Given the description of an element on the screen output the (x, y) to click on. 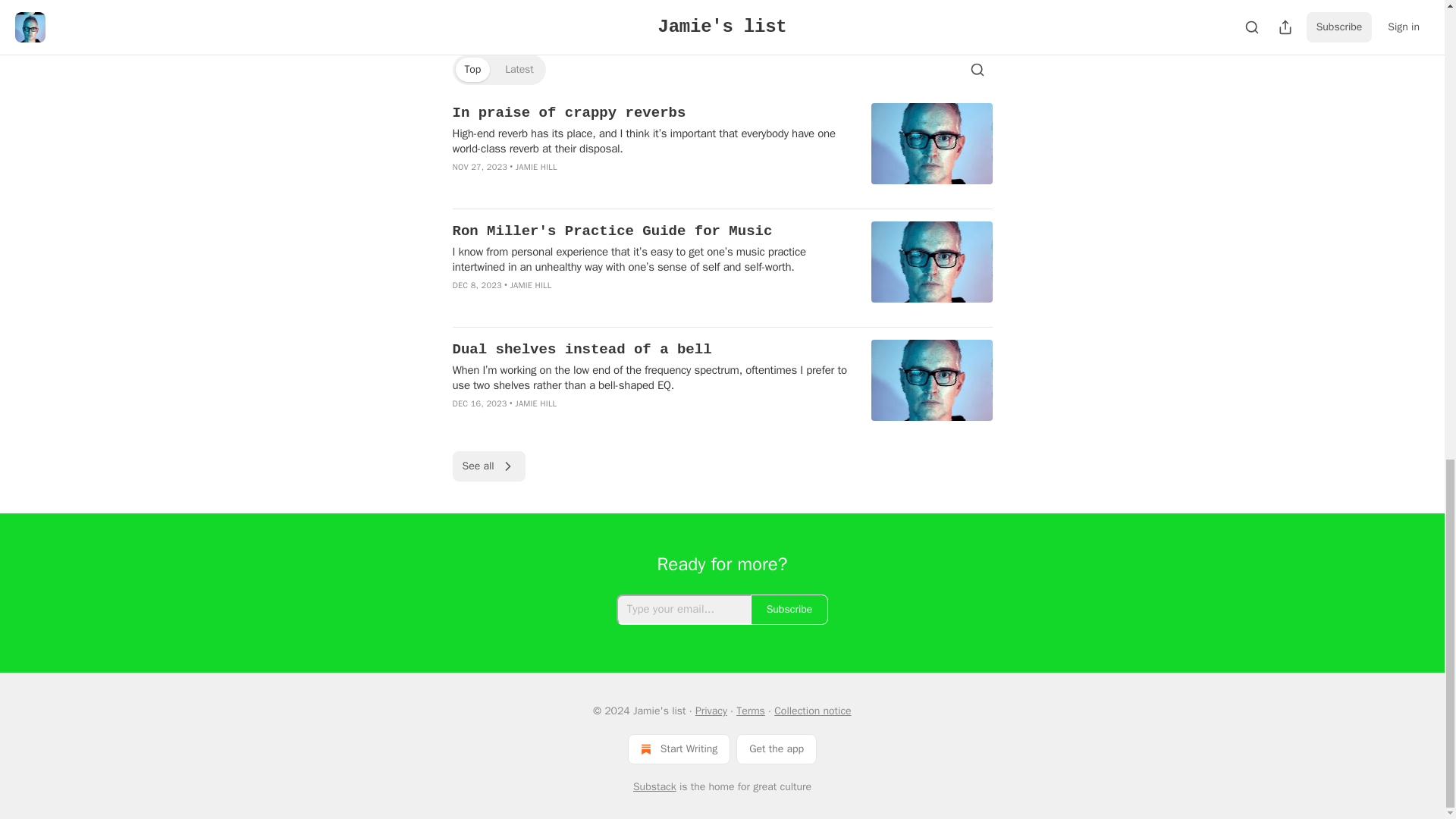
JAMIE HILL (535, 403)
Latest (518, 69)
In praise of crappy reverbs (651, 112)
Dual shelves instead of a bell (651, 349)
Previous (485, 12)
See all (487, 466)
JAMIE HILL (536, 166)
Collection notice (812, 710)
Subscribe (789, 609)
Next (966, 12)
